Given the description of an element on the screen output the (x, y) to click on. 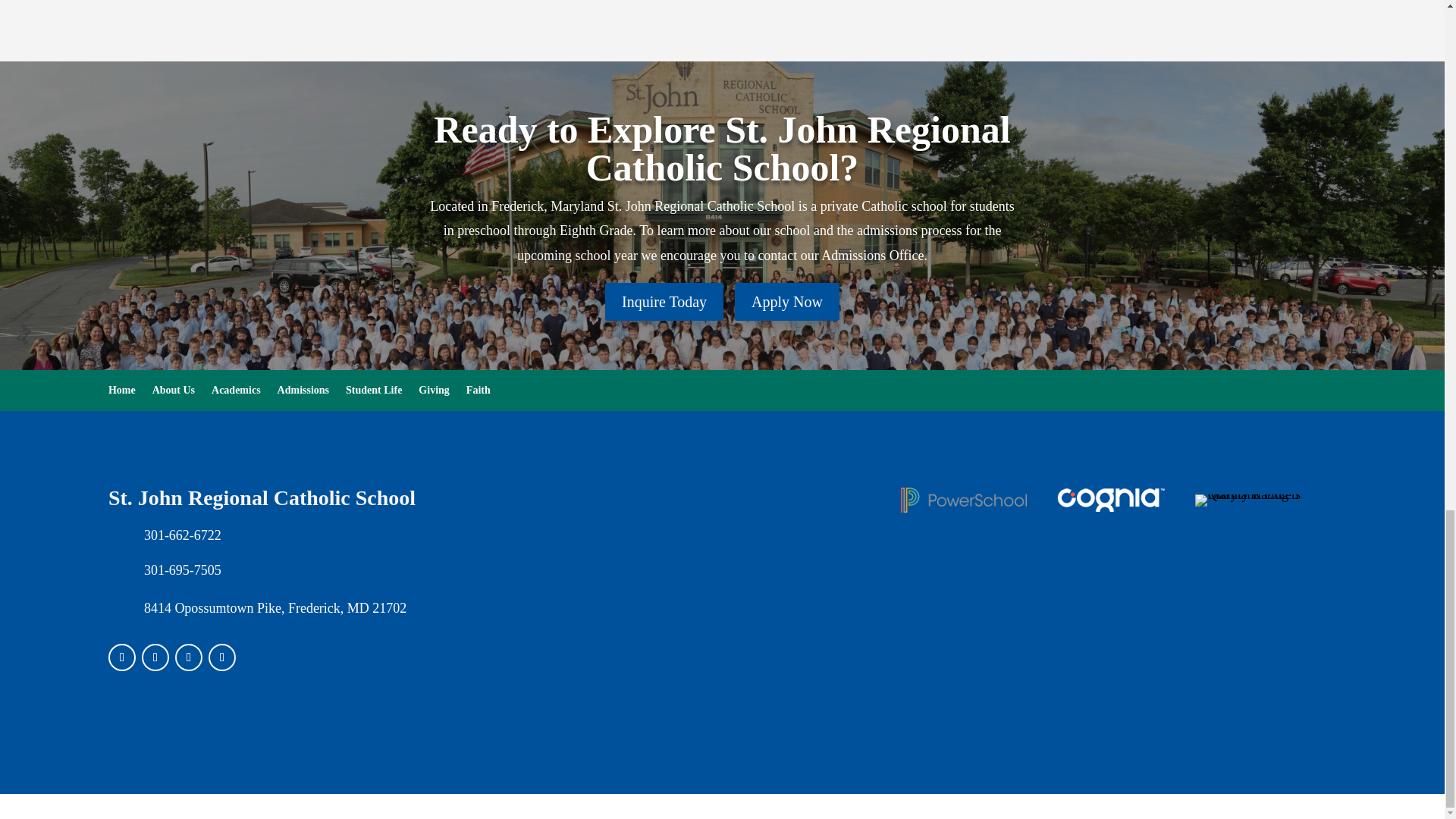
cognia-logo (1111, 499)
Follow on Youtube (221, 656)
power-school-logo (963, 499)
Follow on Facebook (121, 656)
Follow on Instagram (154, 656)
Follow on X (188, 656)
excels-logo (1257, 500)
